Given the description of an element on the screen output the (x, y) to click on. 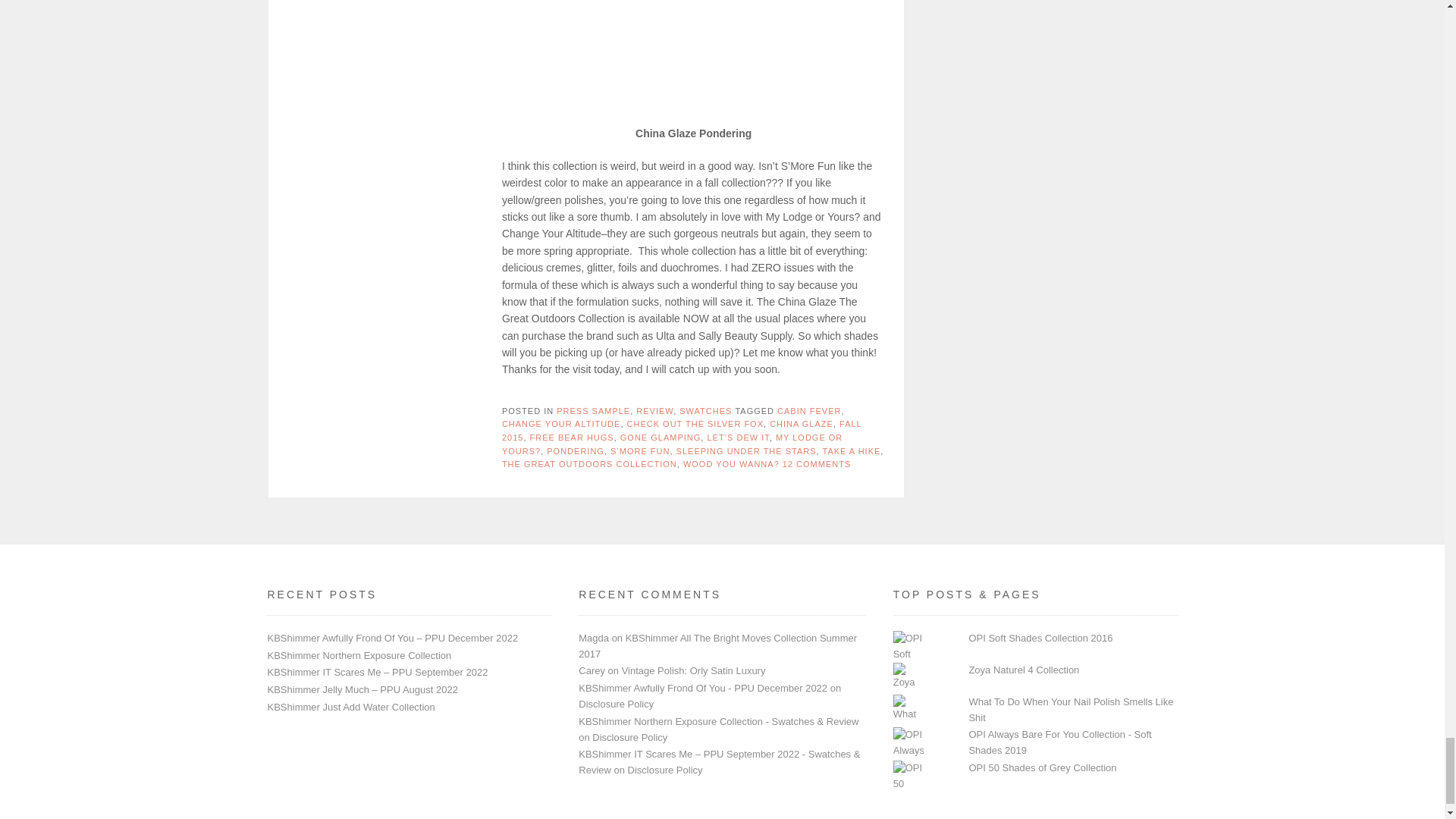
REVIEW (654, 410)
OPI Soft Shades Collection 2016 (1040, 637)
OPI 50 Shades of Grey Collection (1042, 767)
PRESS SAMPLE (593, 410)
Zoya Naturel 4 Collection (1023, 669)
OPI Always Bare For You Collection - Soft Shades 2019 (1059, 741)
What To Do When Your Nail Polish Smells Like Shit (1070, 709)
